Given the description of an element on the screen output the (x, y) to click on. 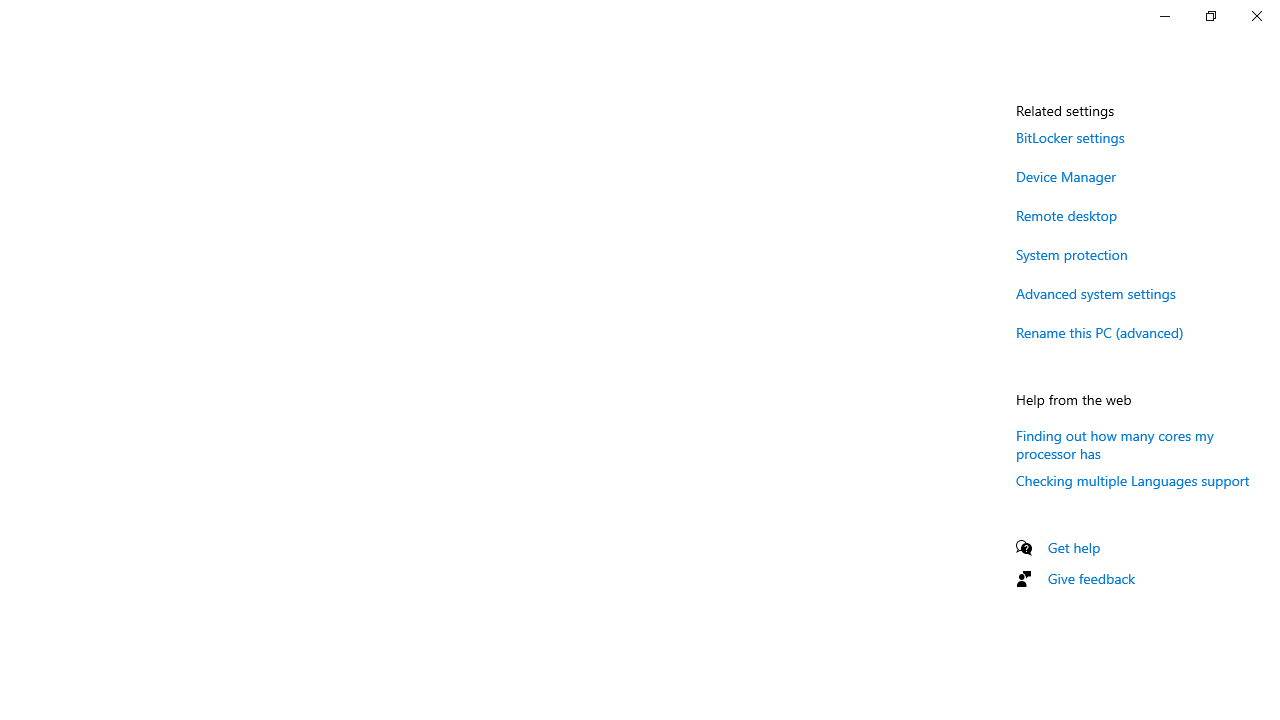
Minimize Settings (1164, 15)
Advanced system settings (1096, 293)
Device Manager (1066, 176)
Remote desktop (1066, 214)
Close Settings (1256, 15)
Get help (1074, 547)
BitLocker settings (1070, 137)
System protection (1071, 254)
Checking multiple Languages support (1133, 480)
Finding out how many cores my processor has (1114, 443)
Restore Settings (1210, 15)
Rename this PC (advanced) (1100, 332)
Give feedback (1091, 578)
